Given the description of an element on the screen output the (x, y) to click on. 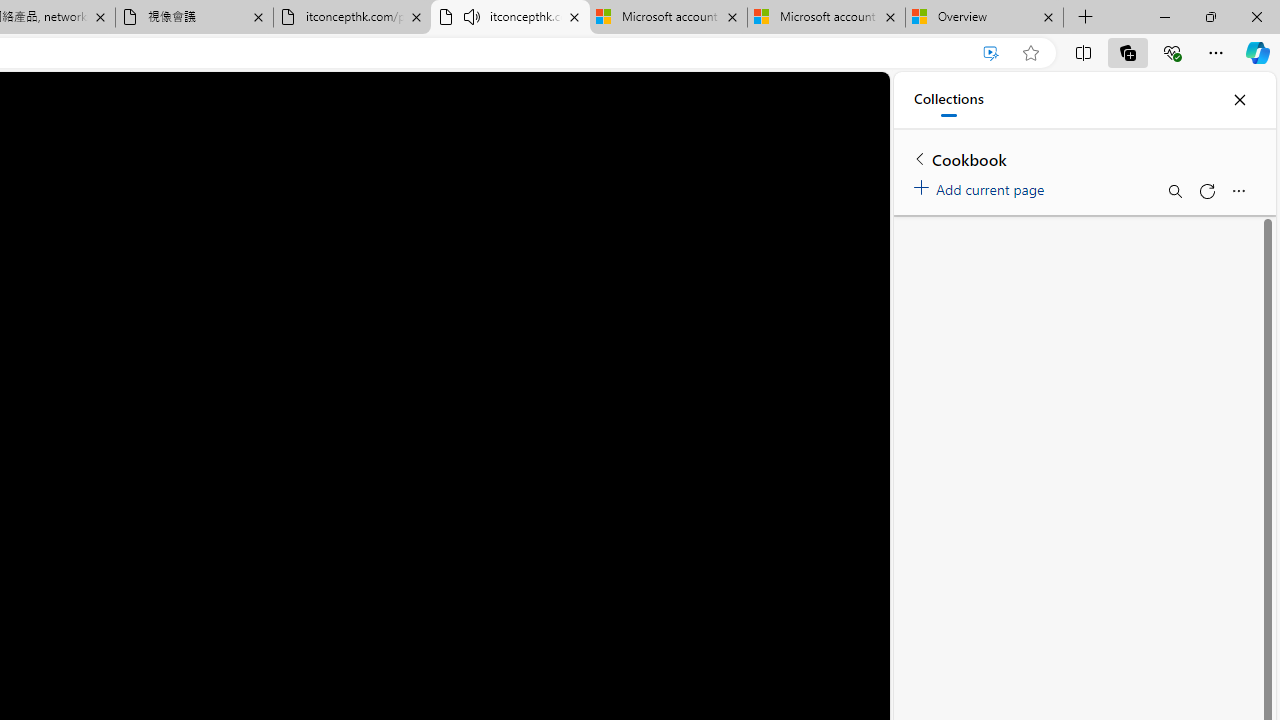
itconcepthk.com/projector_solutions.mp4 - Audio playing (509, 17)
